Given the description of an element on the screen output the (x, y) to click on. 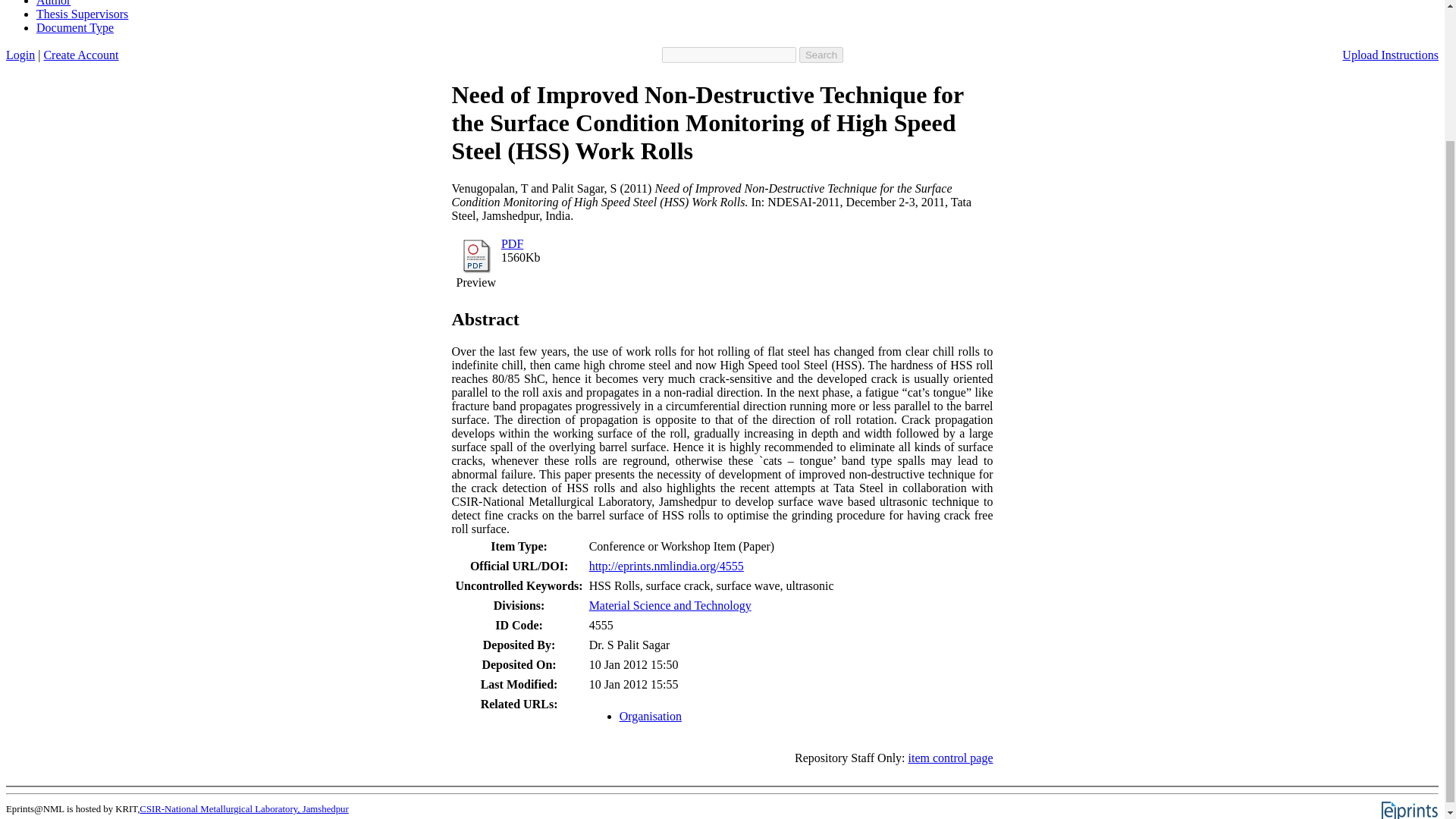
Search (821, 54)
Search (821, 54)
Login (19, 54)
Search (821, 54)
Material Science and Technology (670, 604)
item control page (950, 757)
Thesis Supervisors (82, 13)
CSIR-National Metallurgical Laboratory, Jamshedpur (243, 808)
Author (52, 3)
Document Type (74, 27)
